Given the description of an element on the screen output the (x, y) to click on. 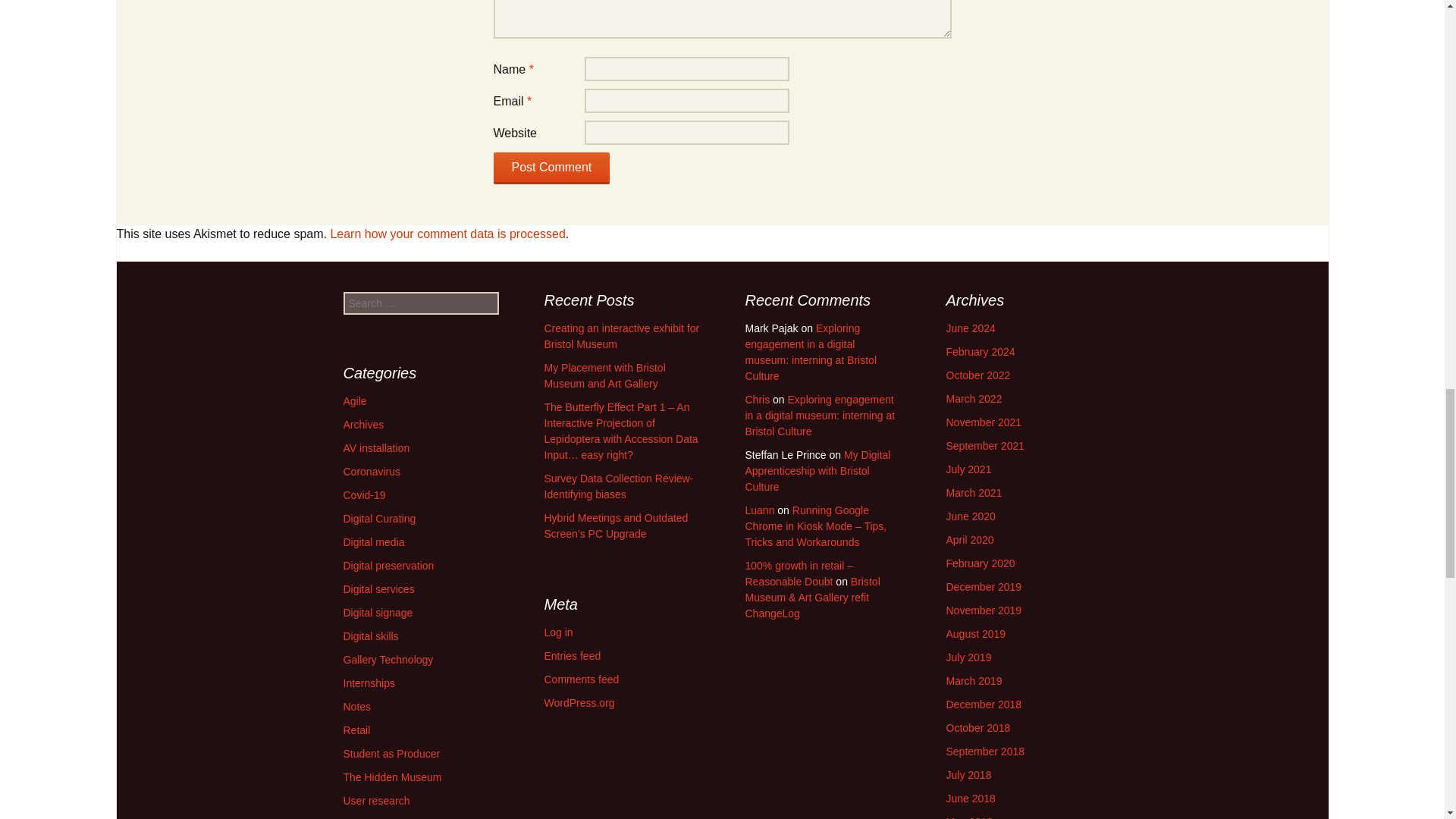
My Placement with Bristol Museum and Art Gallery (604, 375)
My Digital Apprenticeship with Bristol Culture (816, 470)
February 2024 (980, 351)
June 2024 (970, 328)
Post Comment (551, 168)
Post Comment (551, 168)
November 2021 (984, 422)
Creating an interactive exhibit for Bristol Museum (622, 336)
